Given the description of an element on the screen output the (x, y) to click on. 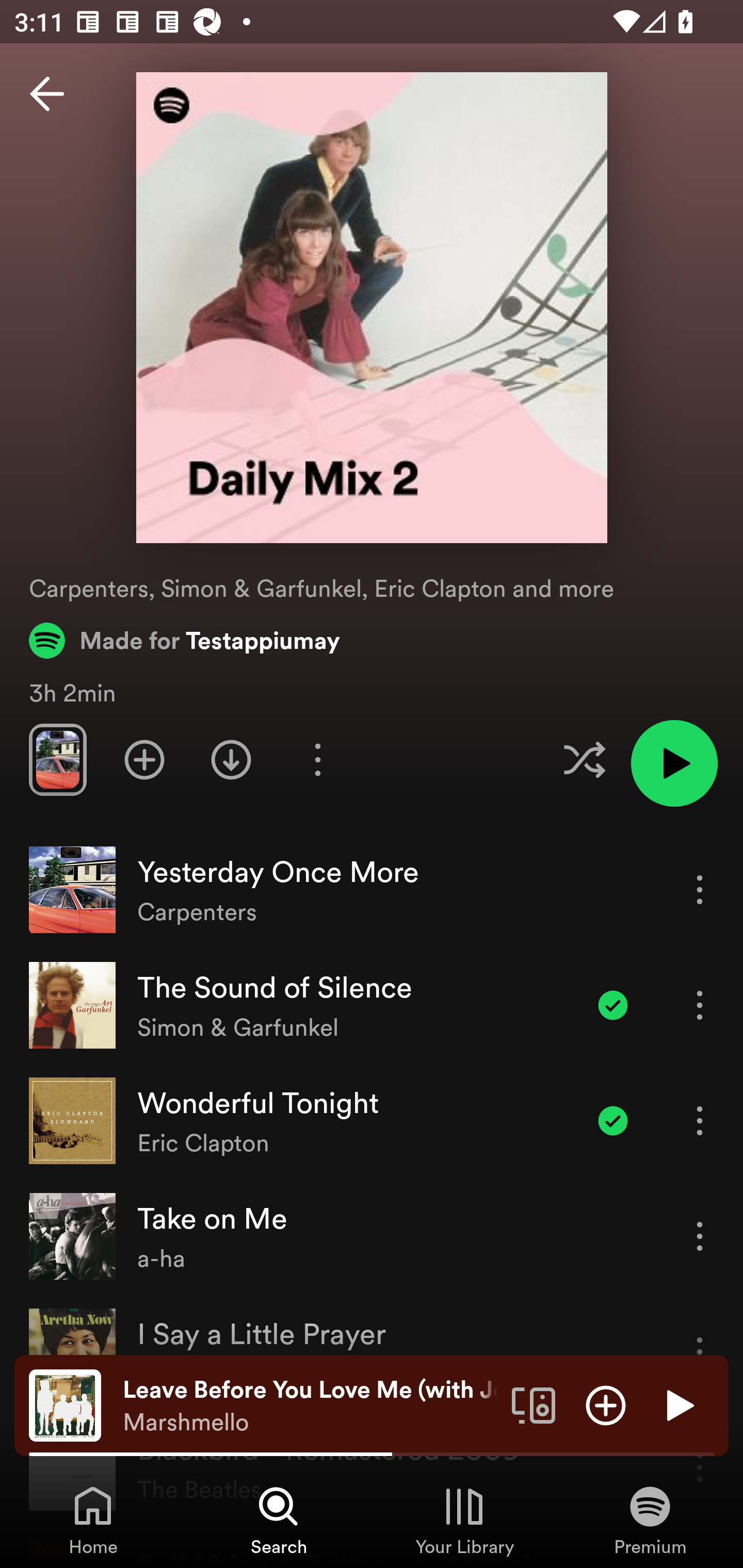
Back (46, 93)
Made for Testappiumay (184, 640)
Swipe through previews of tracks in this playlist. (57, 759)
Add playlist to Your Library (144, 759)
Download (230, 759)
More options for playlist Daily Mix 2 (317, 759)
Enable shuffle for this playlist (583, 759)
Play playlist (674, 763)
More options for song Yesterday Once More (699, 889)
Item added (612, 1004)
More options for song The Sound of Silence (699, 1004)
Item added (612, 1120)
More options for song Wonderful Tonight (699, 1120)
Take on Me a-ha More options for song Take on Me (371, 1236)
More options for song Take on Me (699, 1236)
